Given the description of an element on the screen output the (x, y) to click on. 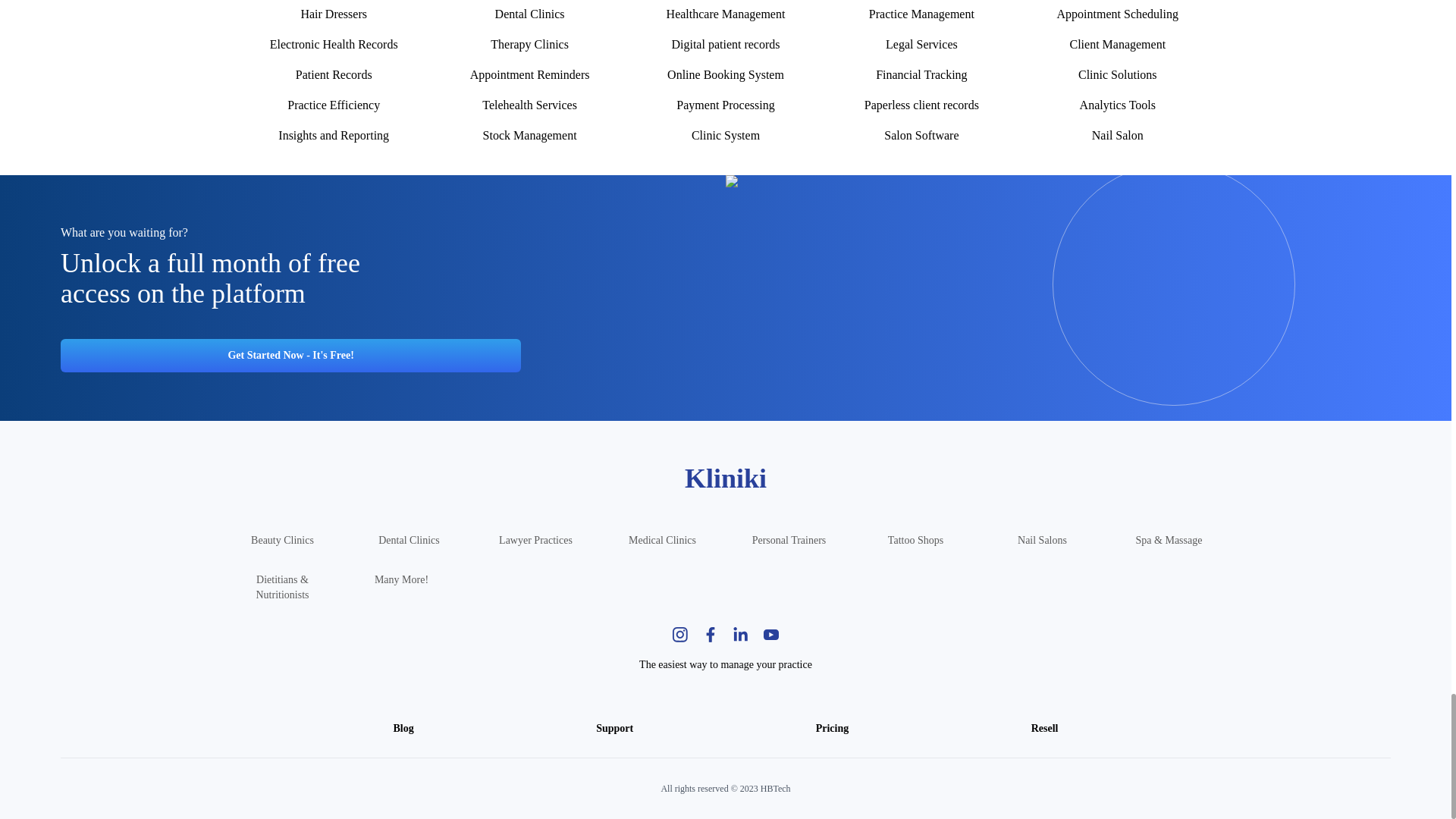
The leading medical clinic management platform (662, 540)
Many More! (401, 587)
Blog (403, 727)
The leading personal trainers management platform (789, 540)
Click to get started for free (291, 355)
Beauty Clinics (282, 540)
The leading lawyer practice management platform (535, 540)
The leading dental clinic management platform (409, 540)
The leading beauty clinic management platform (282, 540)
Get Started Now - It's Free! (291, 355)
Lawyer Practices (535, 540)
Personal Trainers (789, 540)
Support (614, 727)
Medical Clinics (662, 540)
Dental Clinics (409, 540)
